Given the description of an element on the screen output the (x, y) to click on. 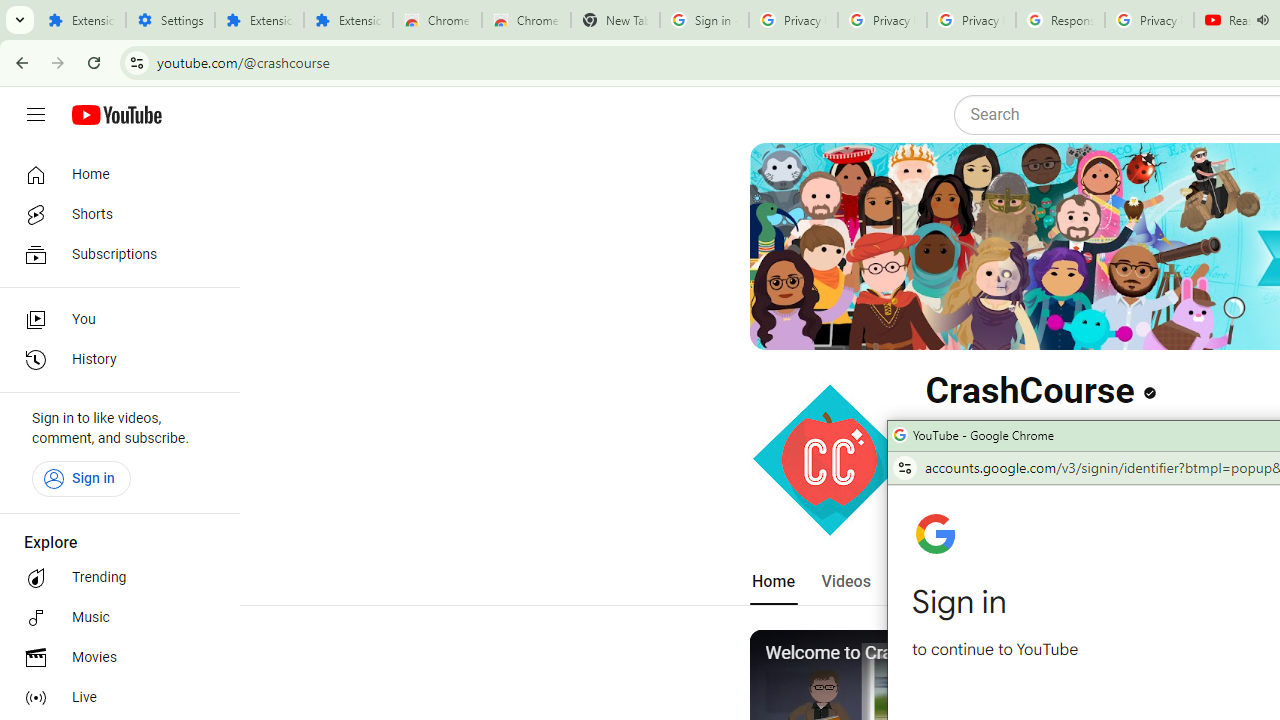
Live (113, 697)
YouTube Home (116, 115)
Movies (113, 657)
Music (113, 617)
Mute tab (1262, 20)
